Given the description of an element on the screen output the (x, y) to click on. 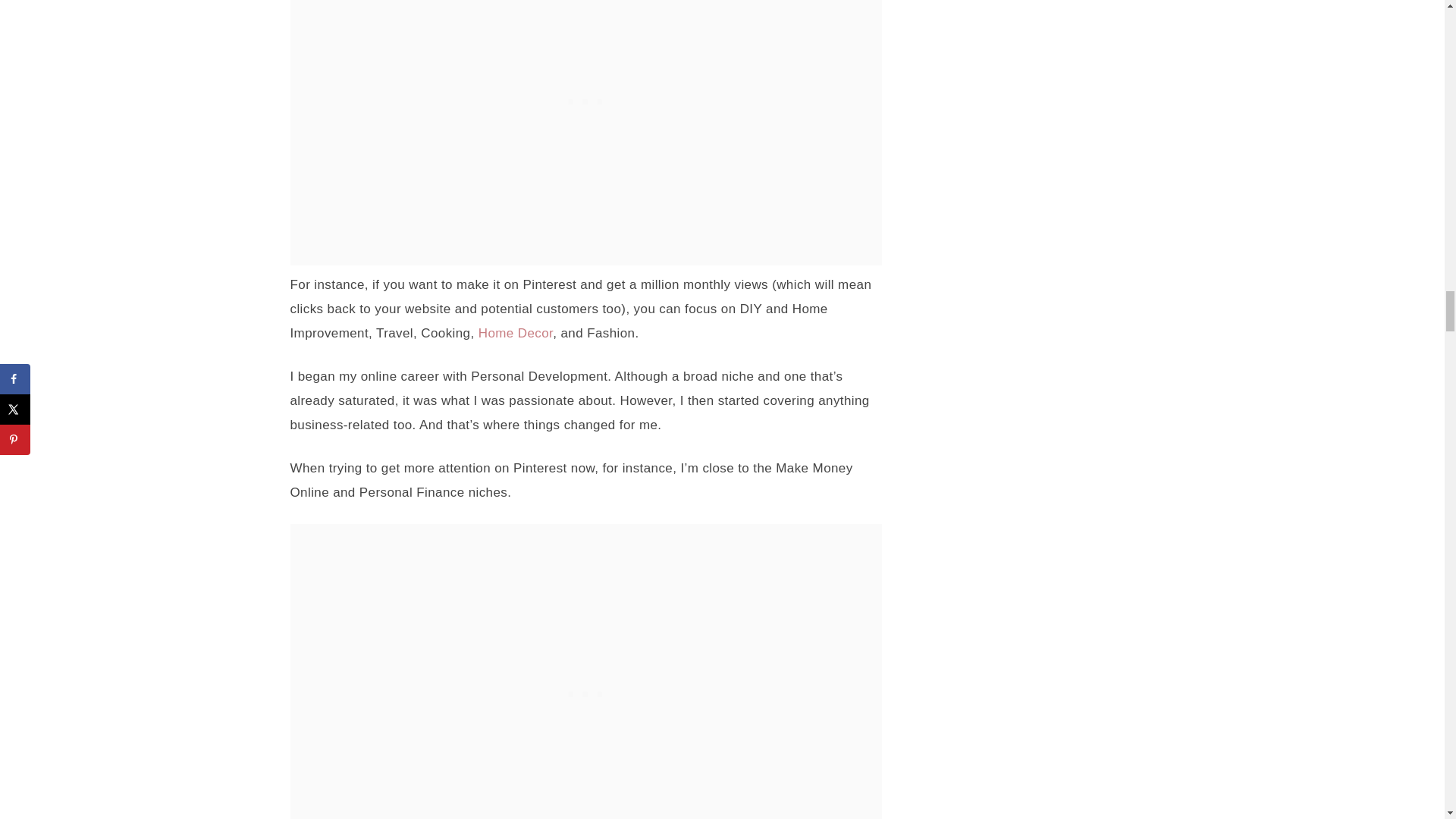
Home Decor (516, 332)
